Given the description of an element on the screen output the (x, y) to click on. 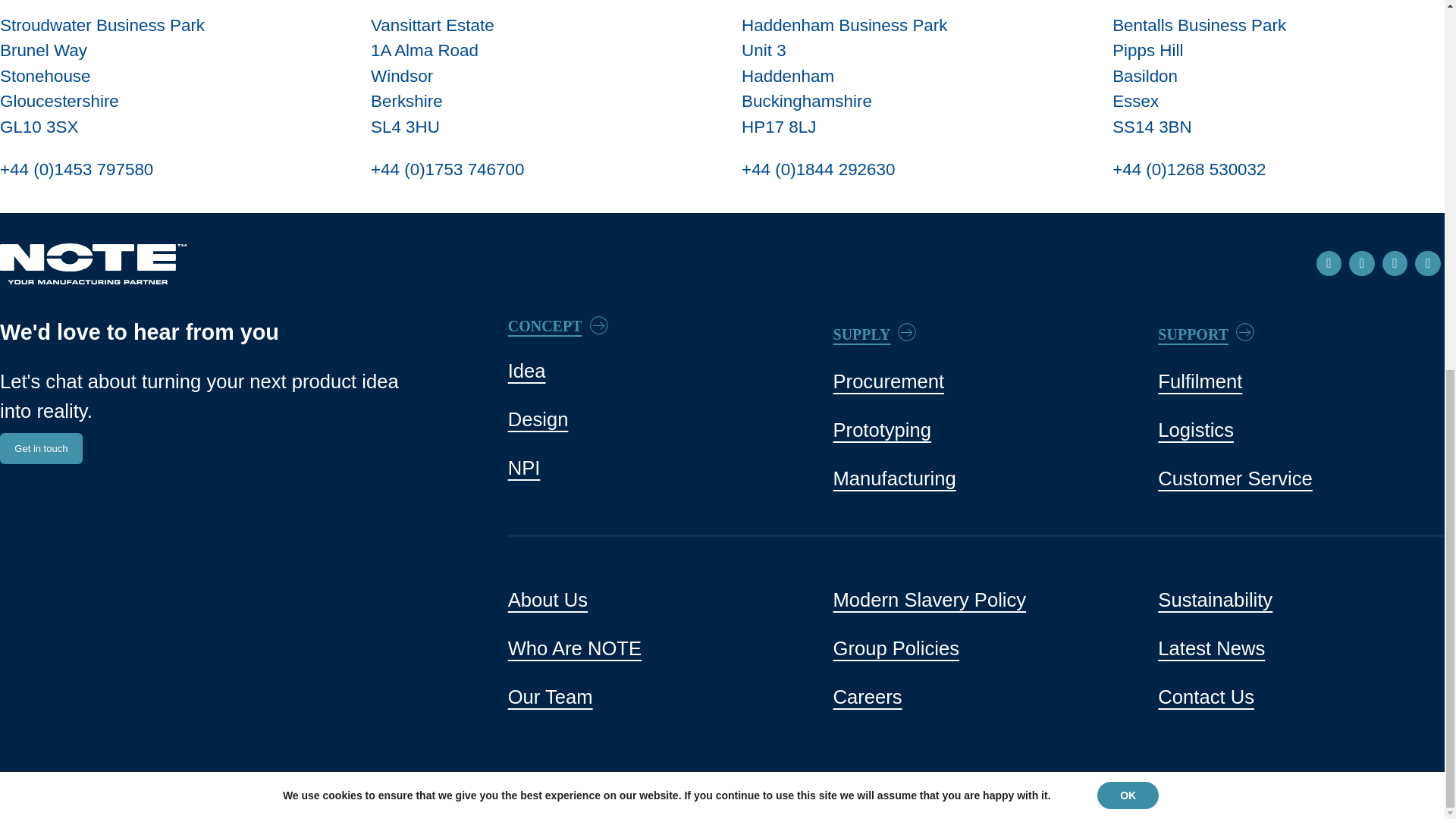
Linkedin (1329, 263)
Instagram (1395, 263)
Facebook (1361, 263)
